Given the description of an element on the screen output the (x, y) to click on. 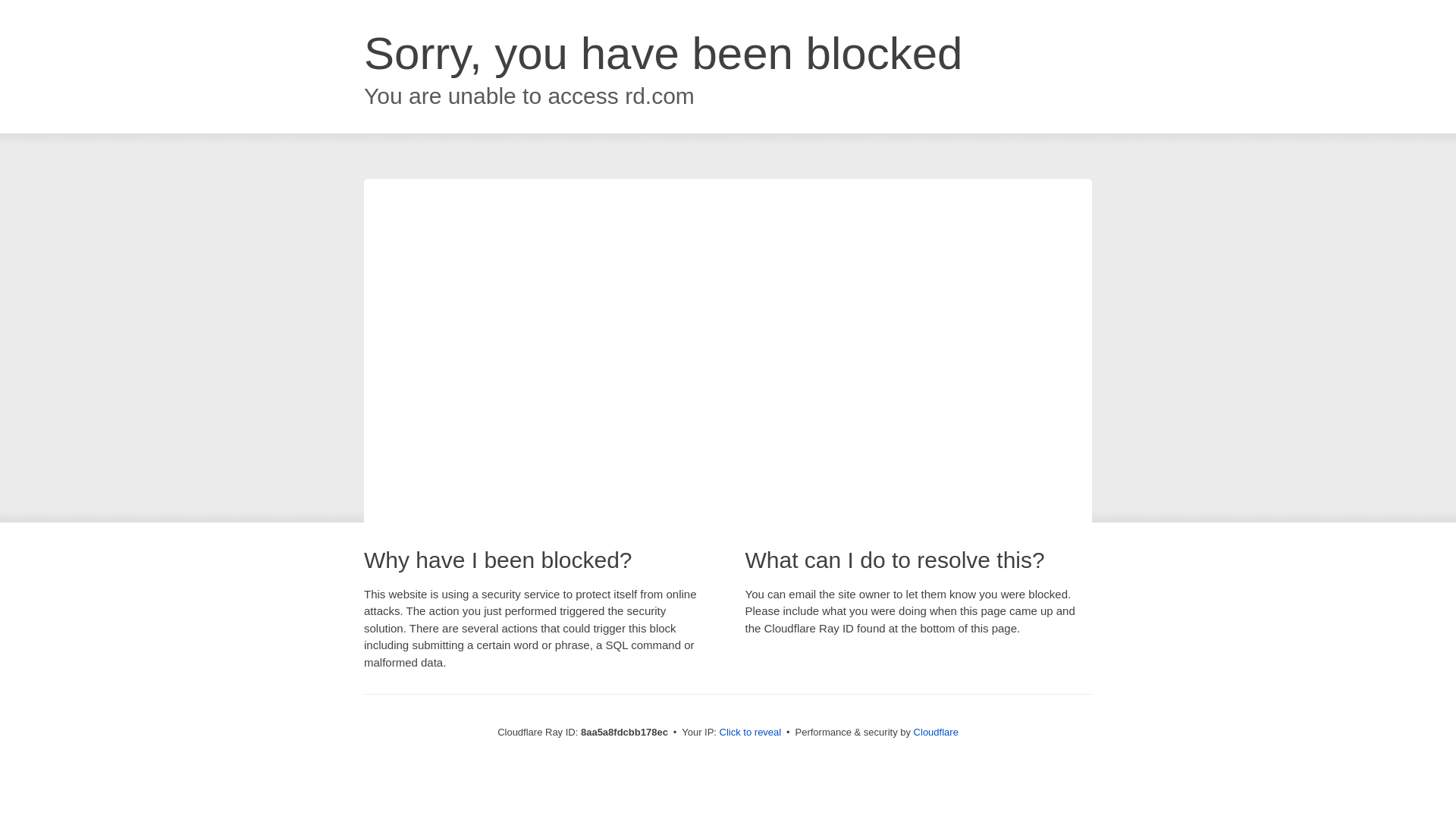
Click to reveal (750, 732)
Cloudflare (936, 731)
